Given the description of an element on the screen output the (x, y) to click on. 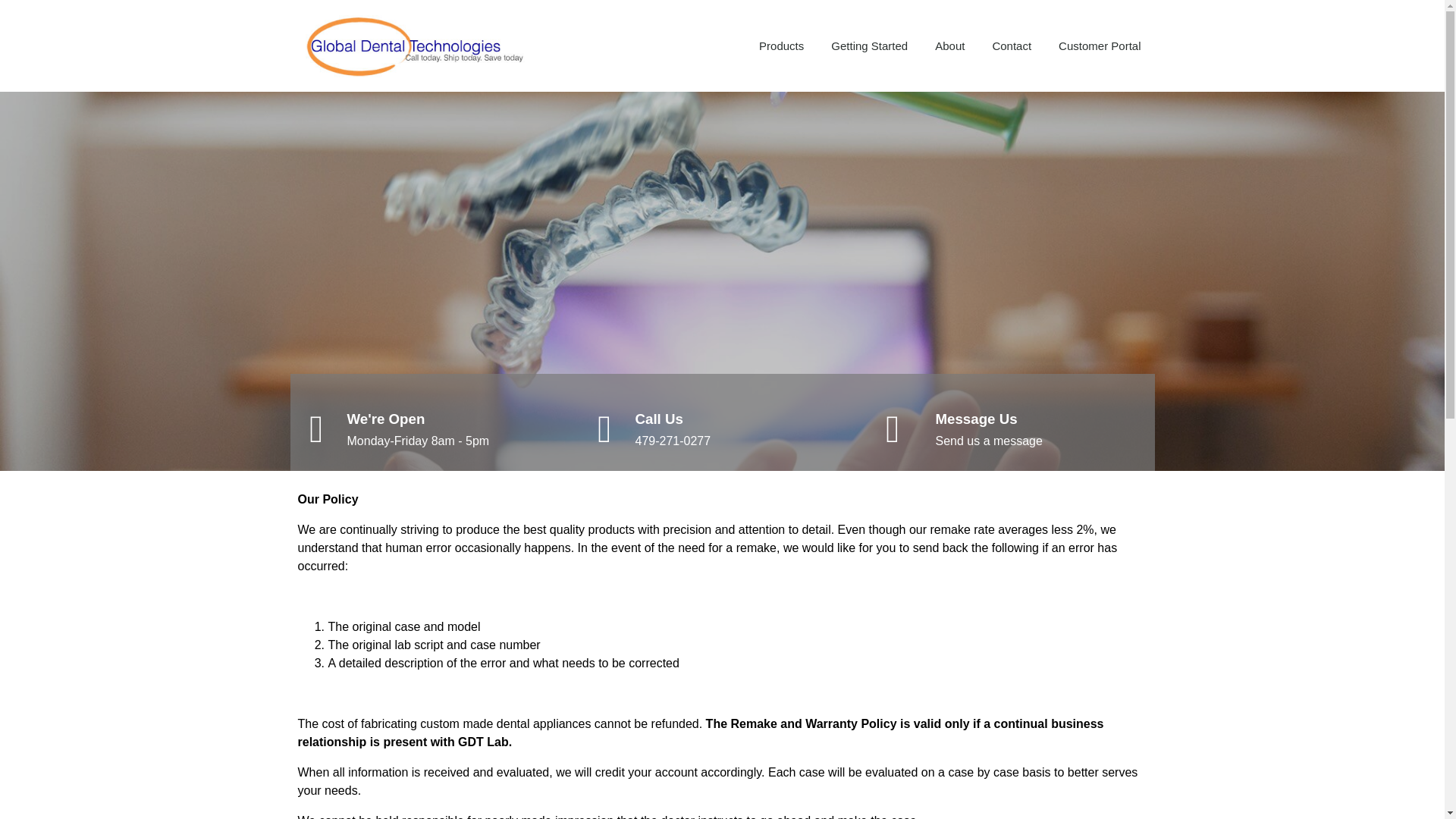
Message Us (975, 418)
Call Us (658, 418)
Customer Portal (1099, 46)
Products (780, 46)
Getting Started (868, 46)
